Given the description of an element on the screen output the (x, y) to click on. 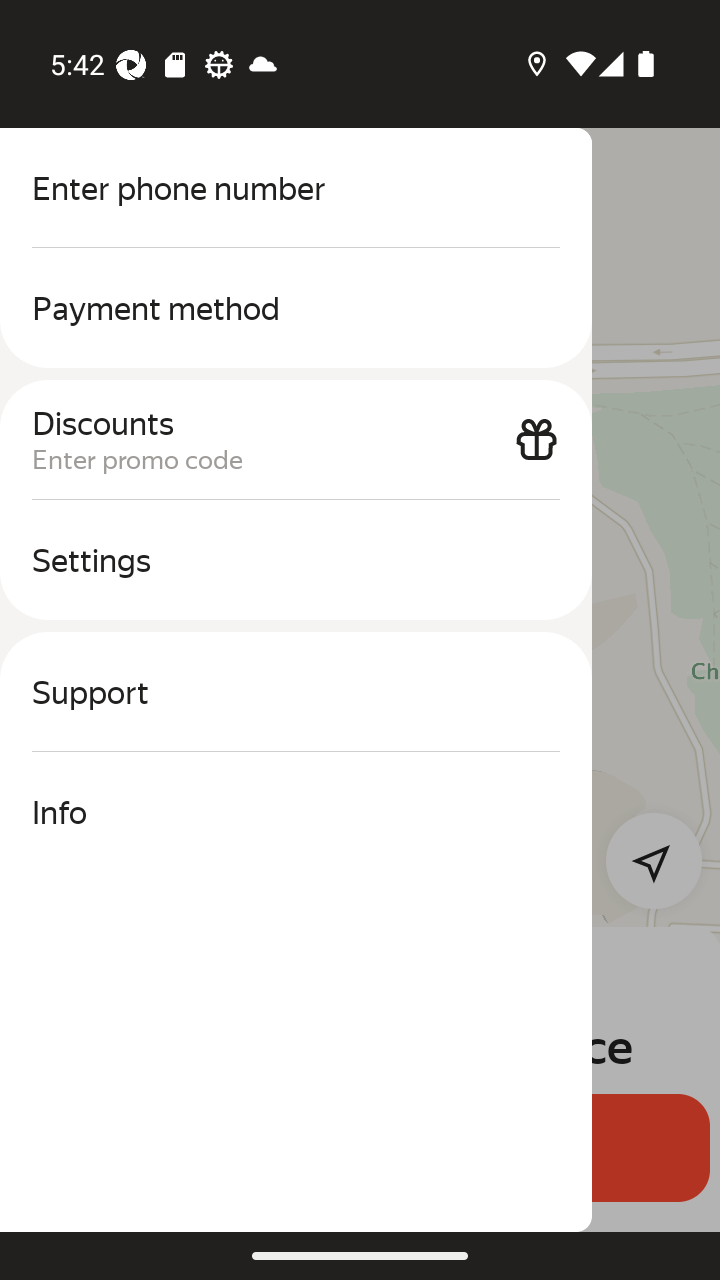
Enter phone number (295, 188)
Payment method (295, 308)
Settings (295, 559)
Support (295, 692)
Info (295, 811)
